Given the description of an element on the screen output the (x, y) to click on. 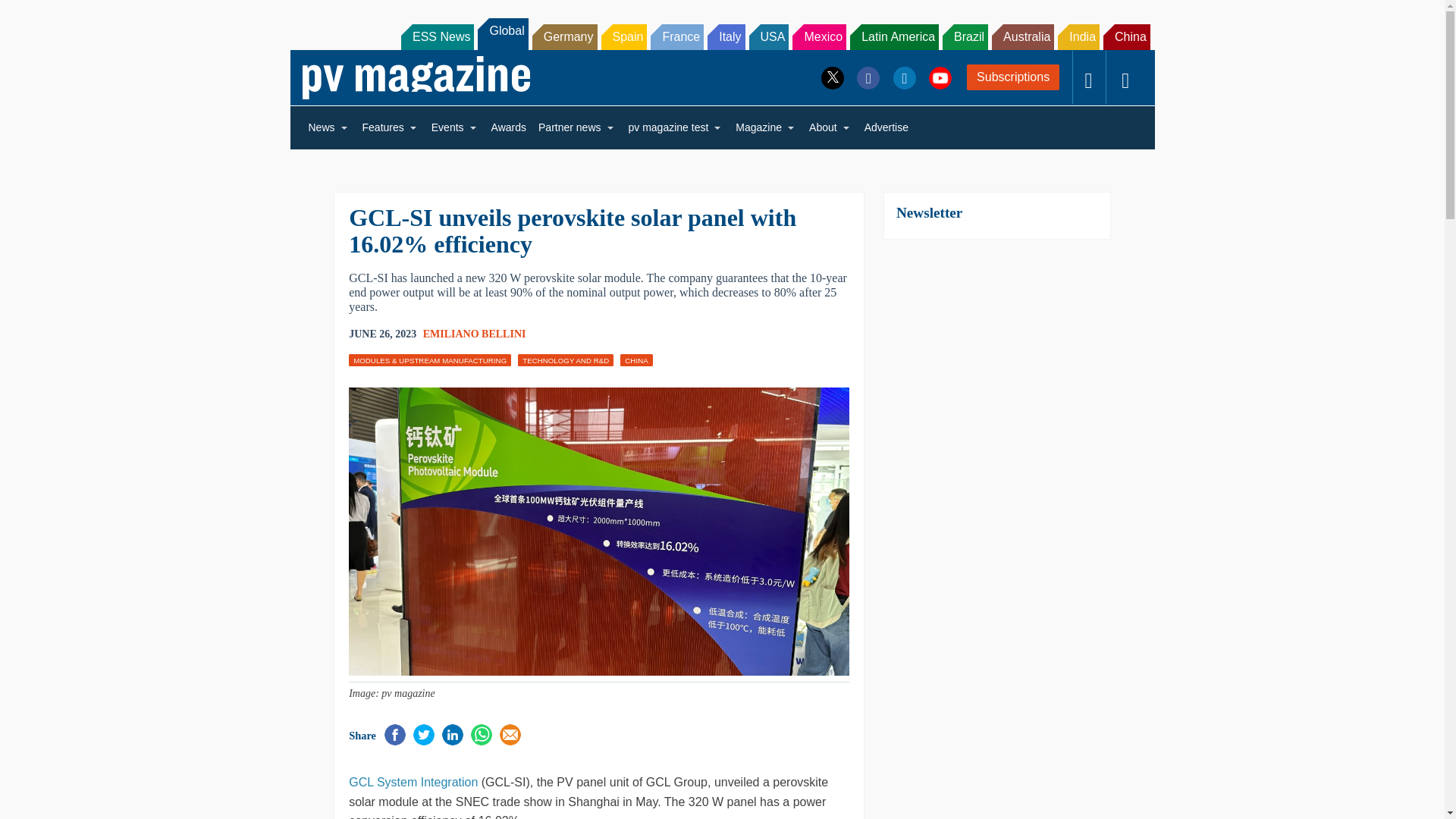
pv magazine - Photovoltaics Markets and Technology (415, 77)
pv magazine - Photovoltaics Markets and Technology (415, 77)
Germany (564, 36)
Italy (725, 36)
Spain (622, 36)
Australia (1022, 36)
China (1126, 36)
Brazil (965, 36)
India (1078, 36)
Subscriptions (1012, 77)
Search (32, 15)
France (676, 36)
Mexico (818, 36)
Latin America (894, 36)
ESS News (437, 36)
